Given the description of an element on the screen output the (x, y) to click on. 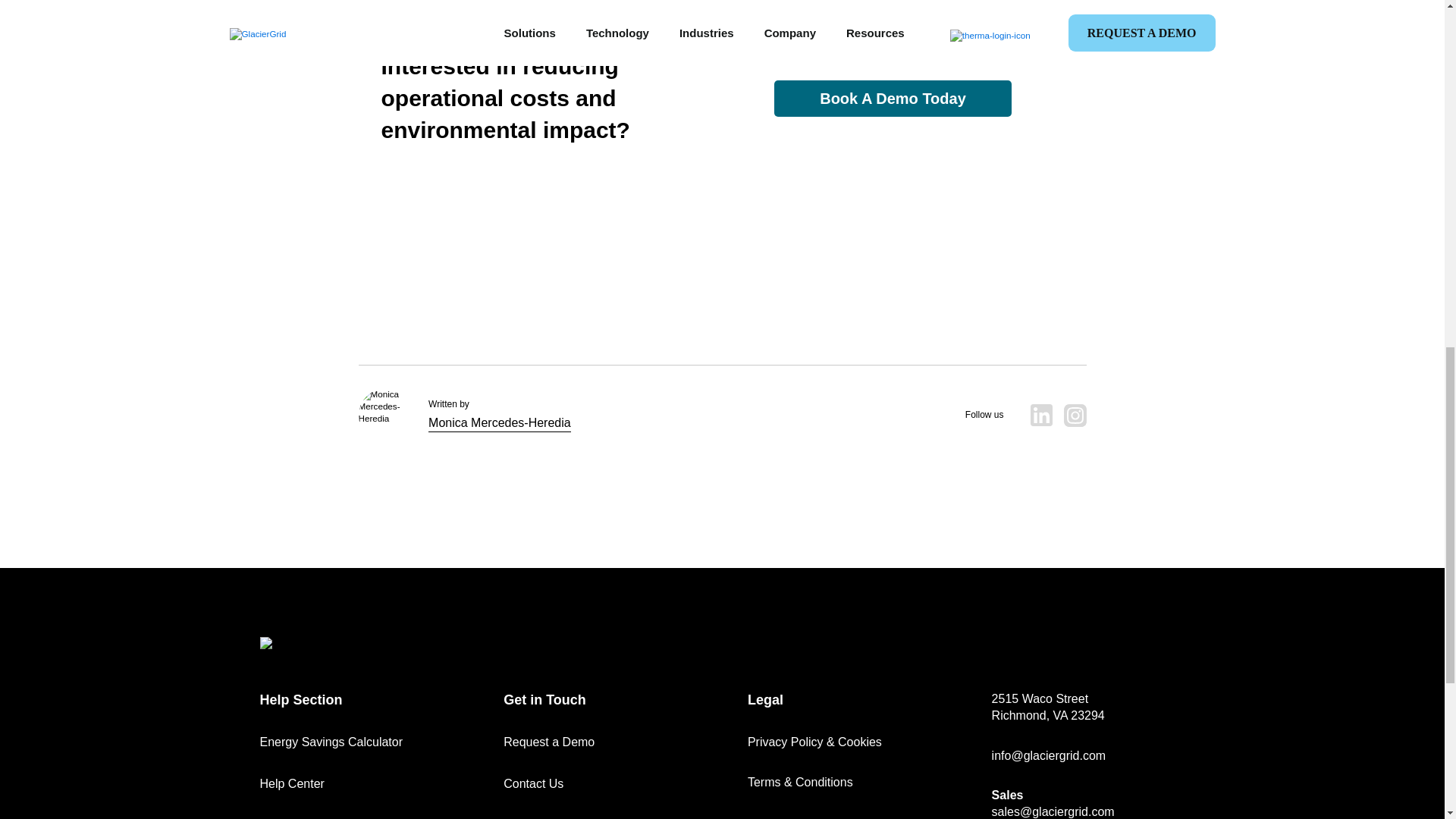
glaciergrid-primary-white (313, 643)
